Given the description of an element on the screen output the (x, y) to click on. 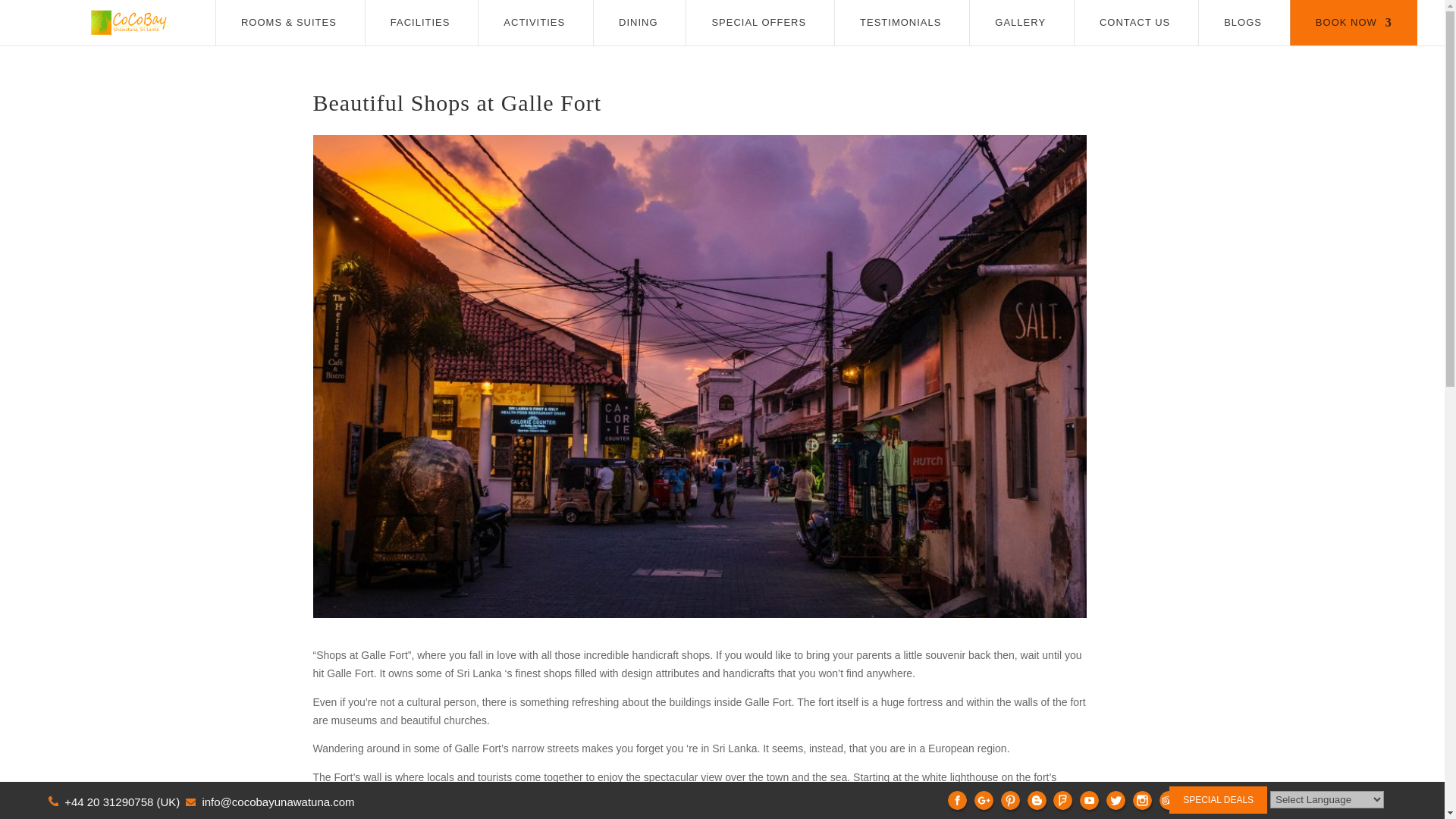
BOOK NOW (1353, 22)
DINING (638, 22)
BLOGS (1243, 22)
TESTIMONIALS (900, 22)
CONTACT US (1134, 22)
SPECIAL OFFERS (758, 22)
FACILITIES (419, 22)
GALLERY (1019, 22)
ACTIVITIES (533, 22)
